Given the description of an element on the screen output the (x, y) to click on. 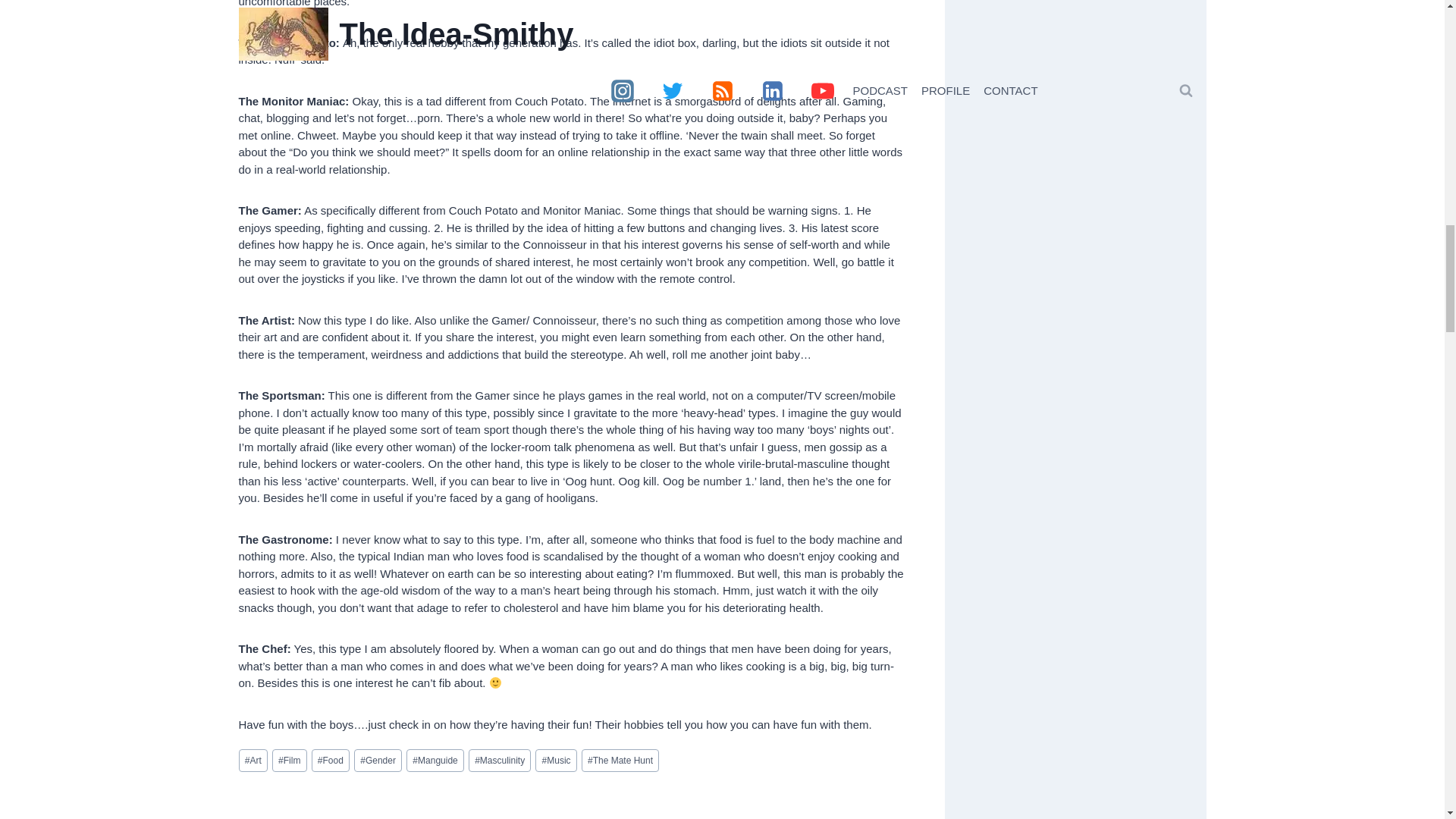
Manguide (435, 760)
Music (555, 760)
The Mate Hunt (619, 760)
Food (330, 760)
Gender (377, 760)
Film (289, 760)
Masculinity (499, 760)
Art (252, 760)
